Given the description of an element on the screen output the (x, y) to click on. 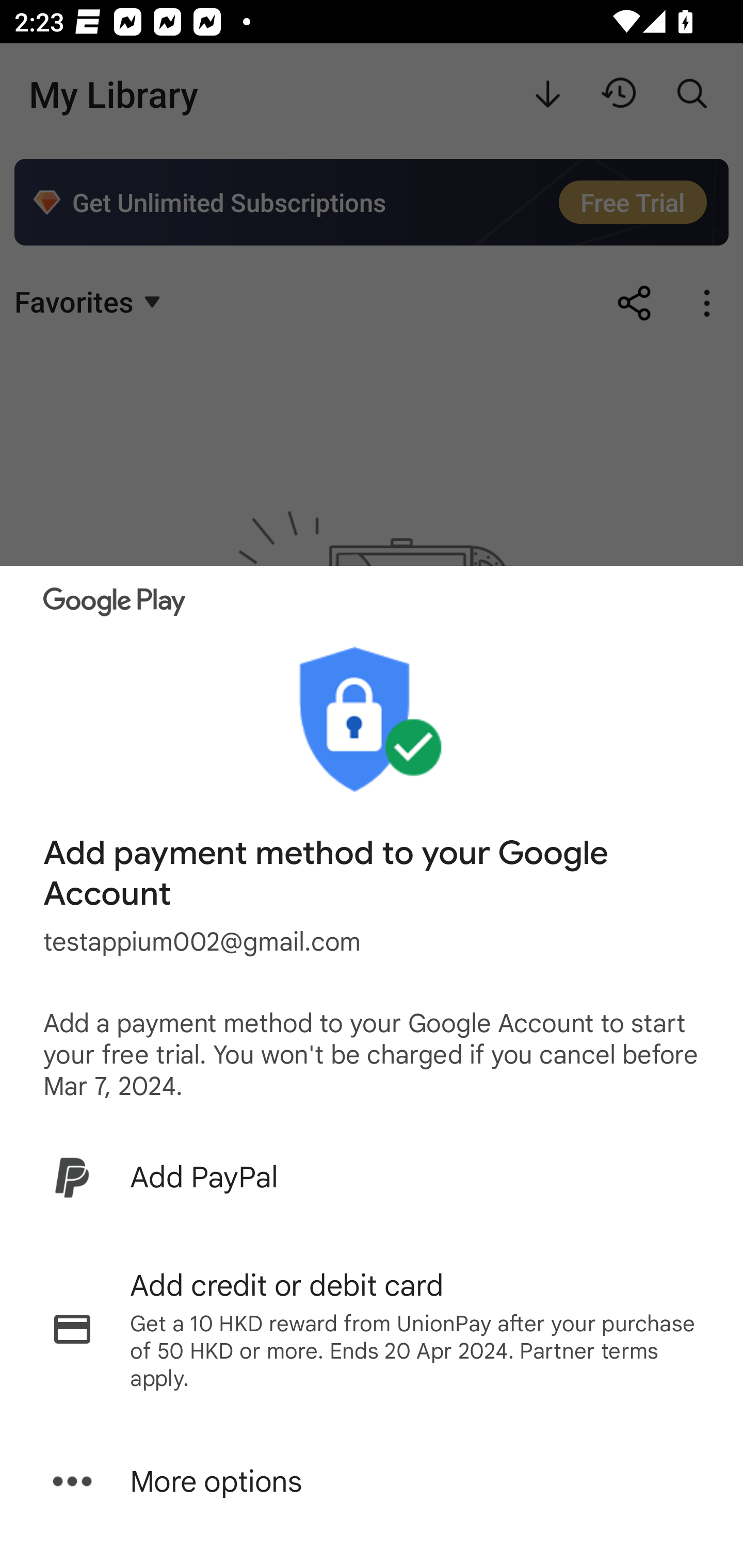
Add PayPal (371, 1177)
More options (371, 1481)
